Given the description of an element on the screen output the (x, y) to click on. 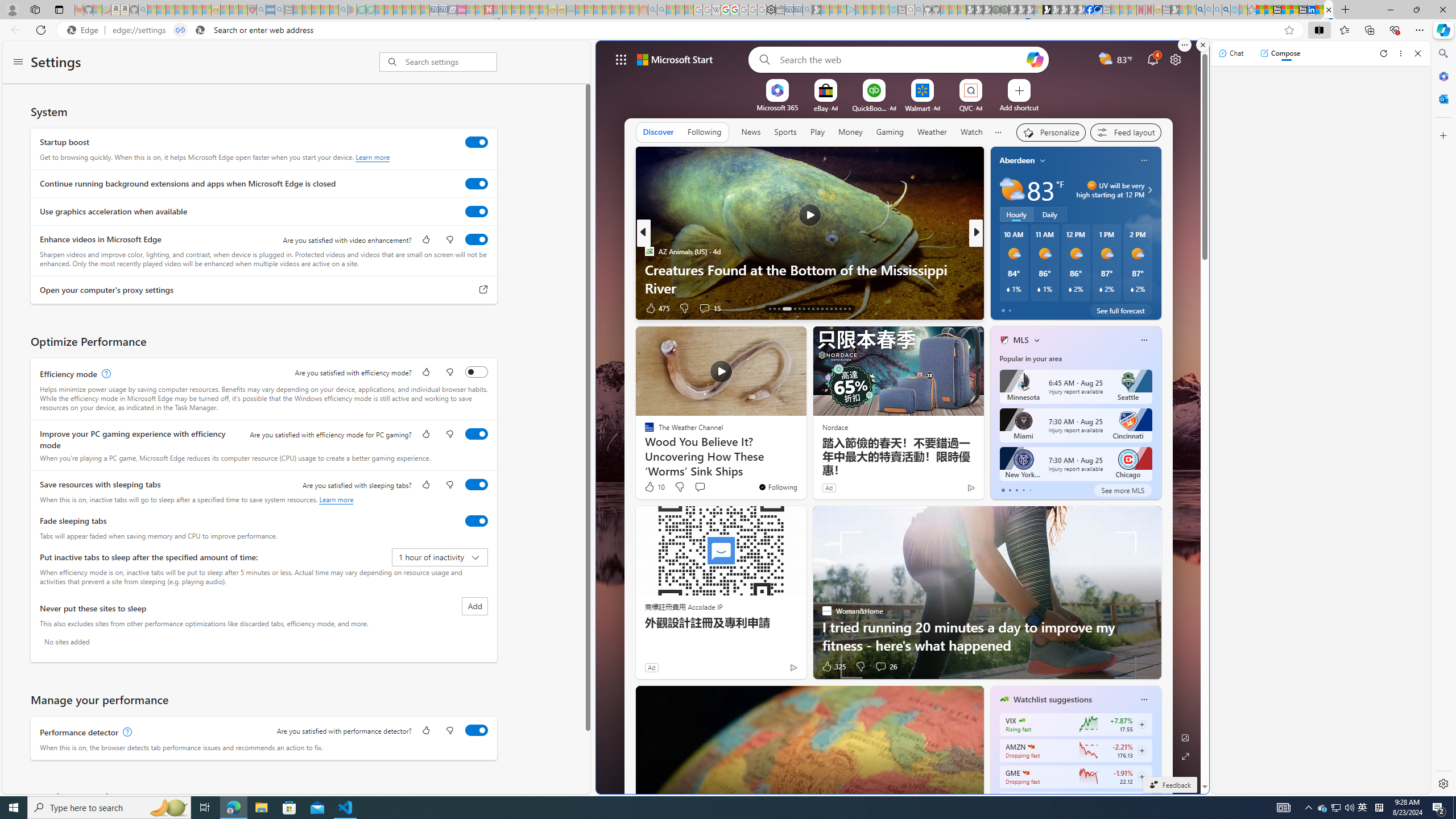
View comments 6 Comment (1054, 307)
View comments 543 Comment (1051, 307)
Aberdeen, Hong Kong SAR weather forecast | Microsoft Weather (1268, 9)
AutomationID: tab-13 (769, 308)
CBOE Market Volatility Index (1021, 720)
Page settings (1175, 59)
Open your computer's proxy settings (483, 290)
3k Like (1005, 307)
